Given the description of an element on the screen output the (x, y) to click on. 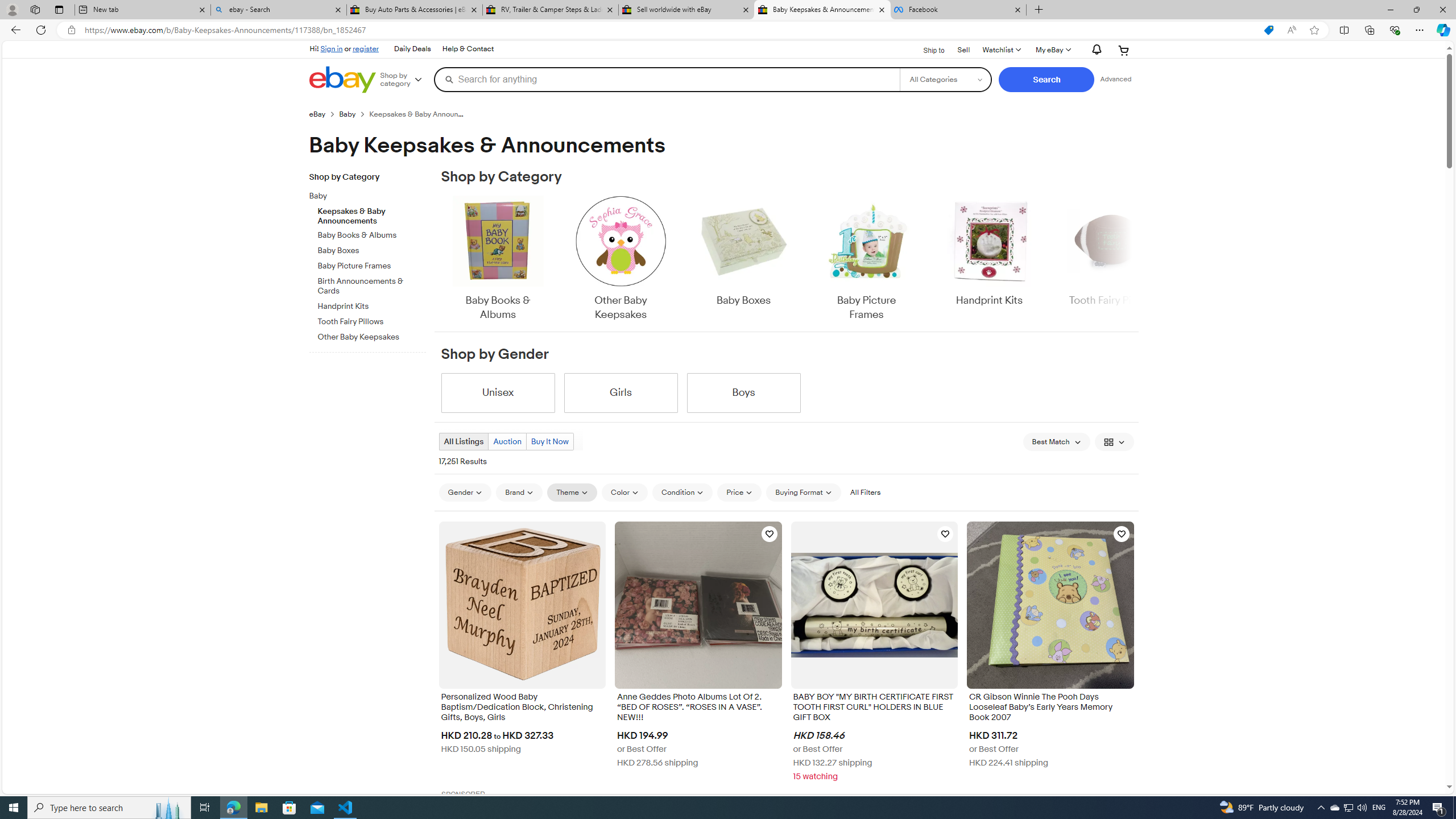
Price (739, 492)
Expand Cart (1123, 49)
Go to previous slide (439, 258)
Help & Contact (467, 49)
Buying Format (803, 492)
Theme (572, 492)
Sell worldwide with eBay (685, 9)
